Given the description of an element on the screen output the (x, y) to click on. 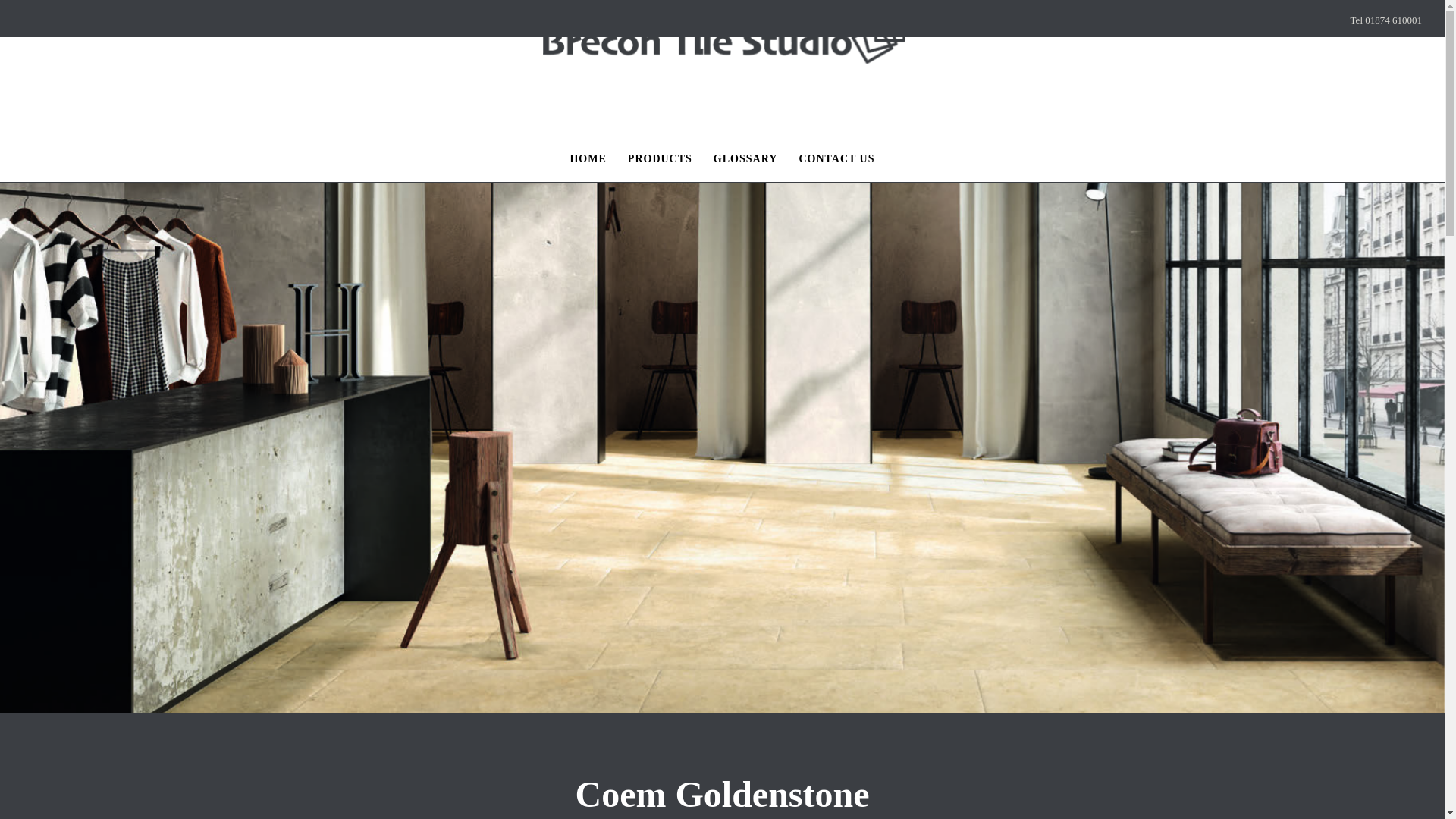
HOME (587, 158)
PRODUCTS (660, 158)
GLOSSARY (746, 158)
CONTACT US (836, 158)
